Given the description of an element on the screen output the (x, y) to click on. 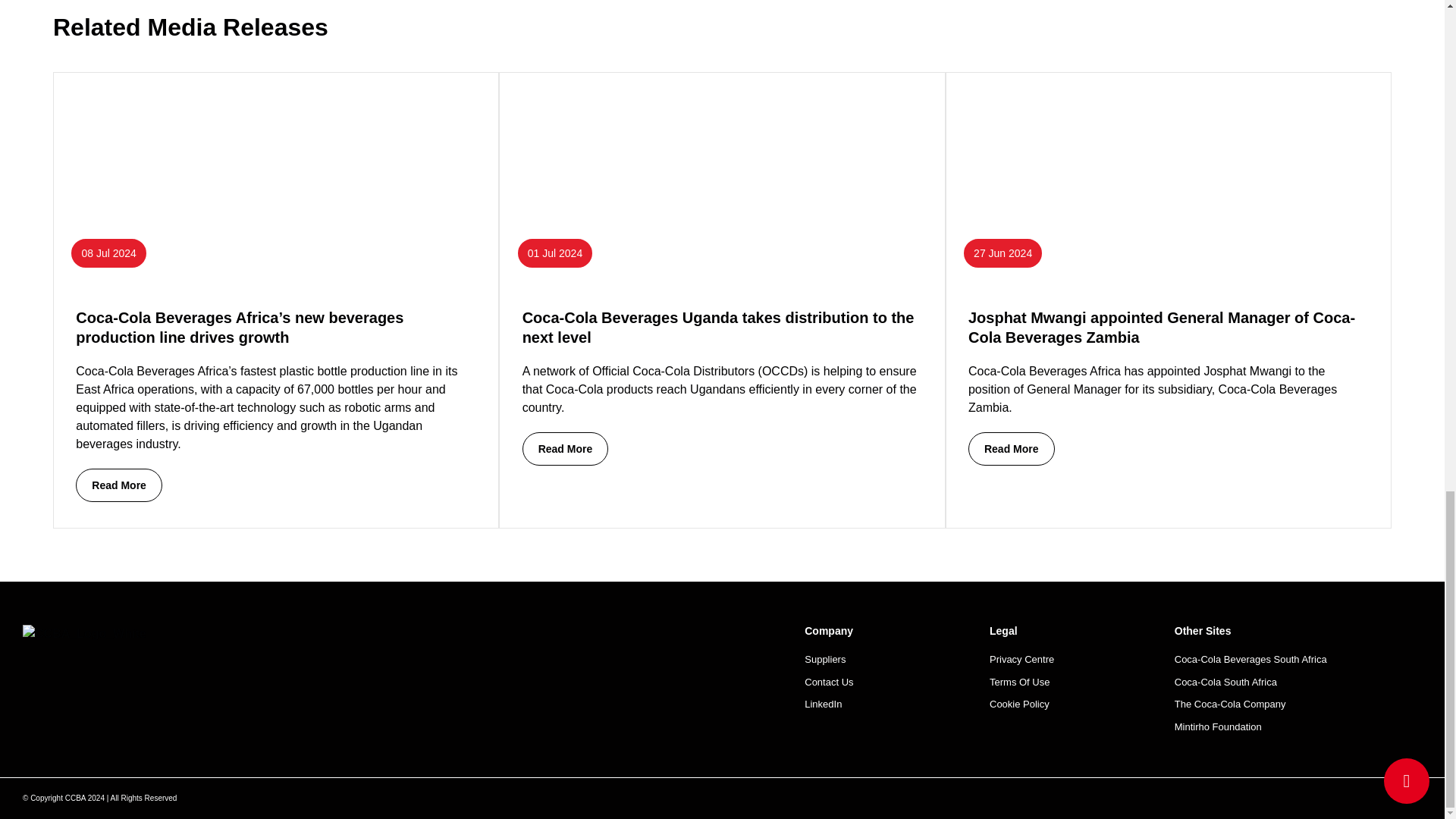
Read More (565, 449)
Cookie Policy (1082, 703)
Suppliers (897, 659)
Read More (118, 485)
Privacy Centre (1082, 659)
LinkedIn (897, 703)
Contact Us (897, 682)
Read More (1011, 449)
Terms Of Use (1082, 682)
